Given the description of an element on the screen output the (x, y) to click on. 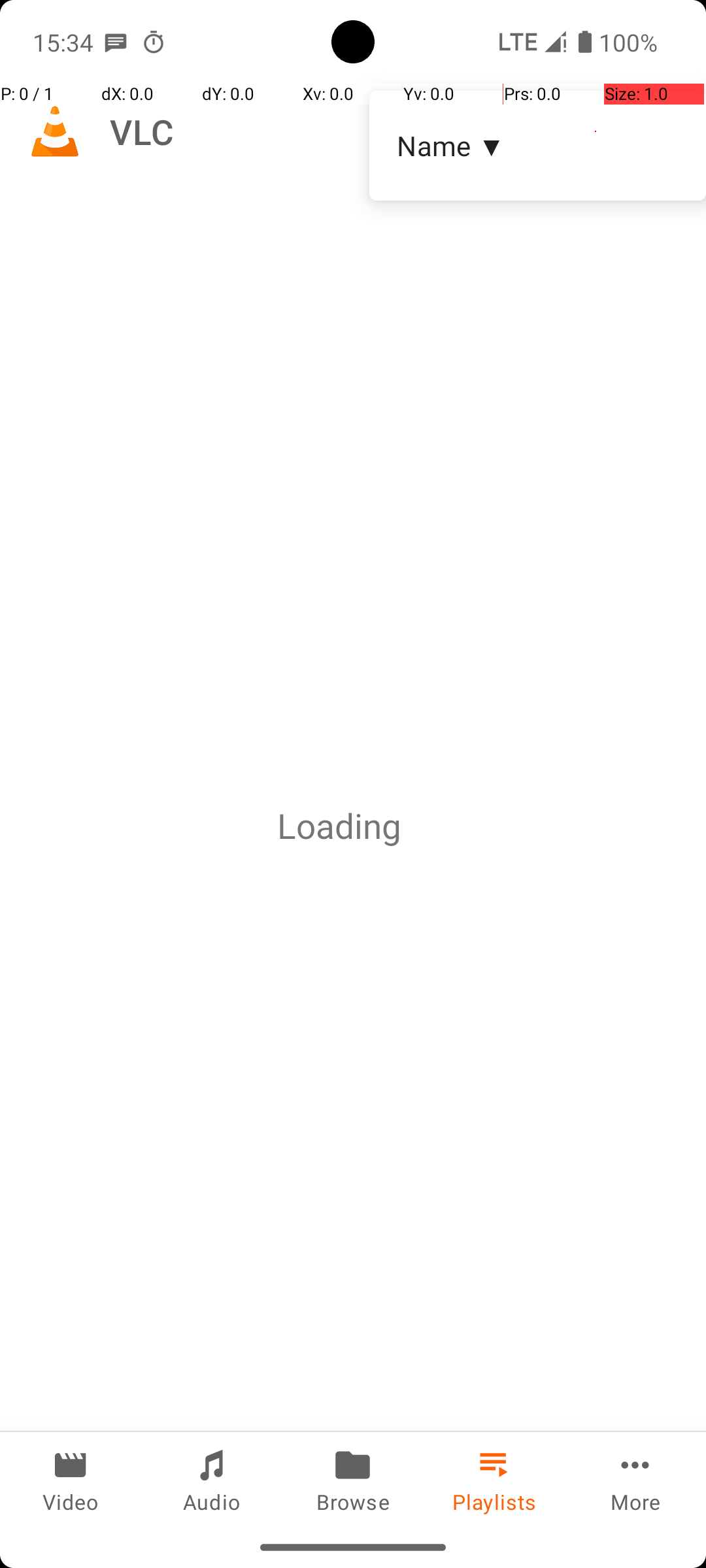
Name. Descending Element type: android.widget.LinearLayout (537, 145)
Name ▼ Element type: android.widget.TextView (537, 145)
